Given the description of an element on the screen output the (x, y) to click on. 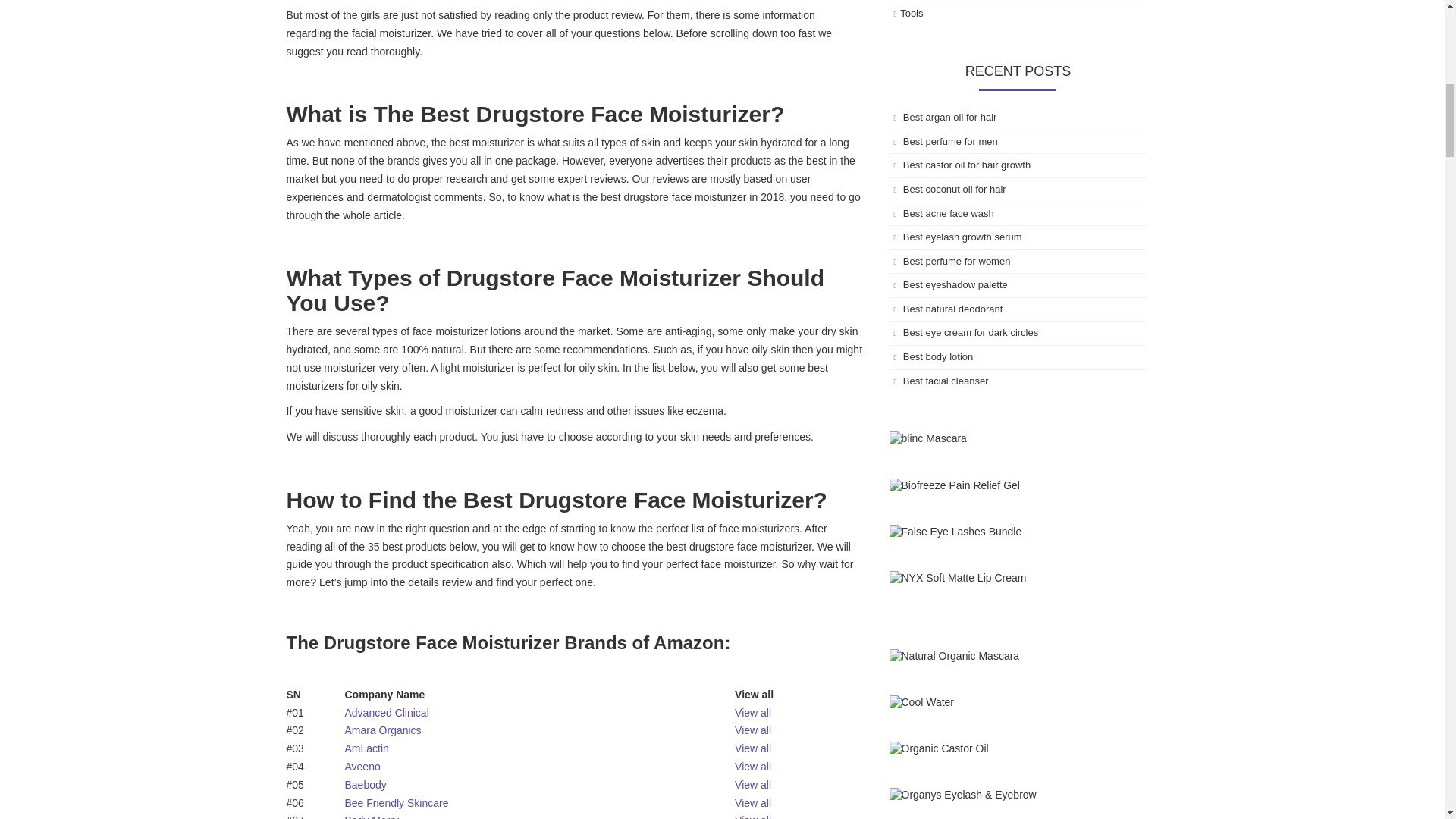
View all (753, 712)
View all (753, 766)
View all (753, 802)
Advanced Clinical (385, 712)
View all (753, 784)
Amara Organics (381, 729)
Baebody (364, 784)
View all (753, 748)
View all (753, 729)
View all (753, 816)
